Given the description of an element on the screen output the (x, y) to click on. 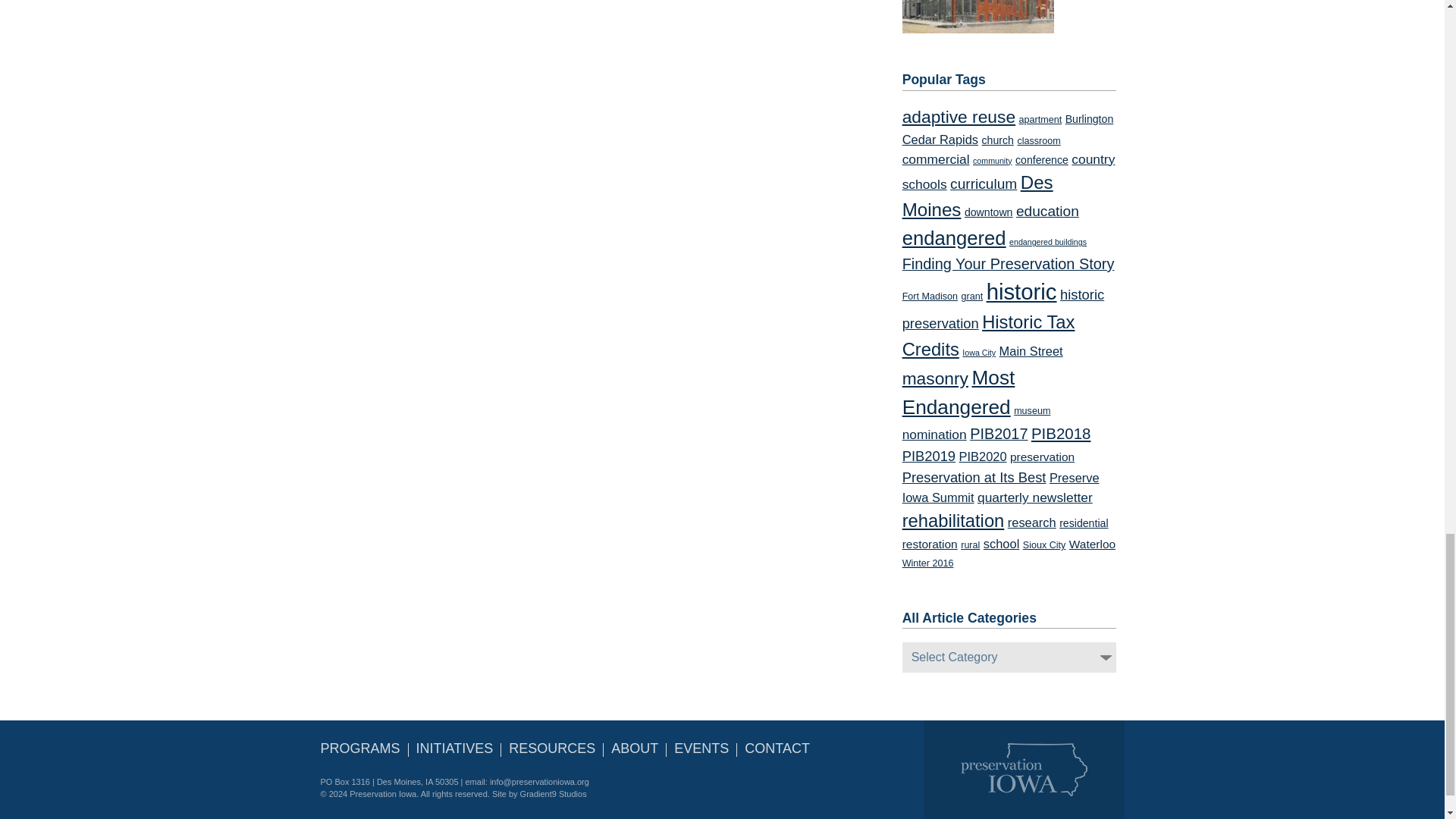
RFP for Redevelopment of Burlington Elks Building (978, 16)
